Given the description of an element on the screen output the (x, y) to click on. 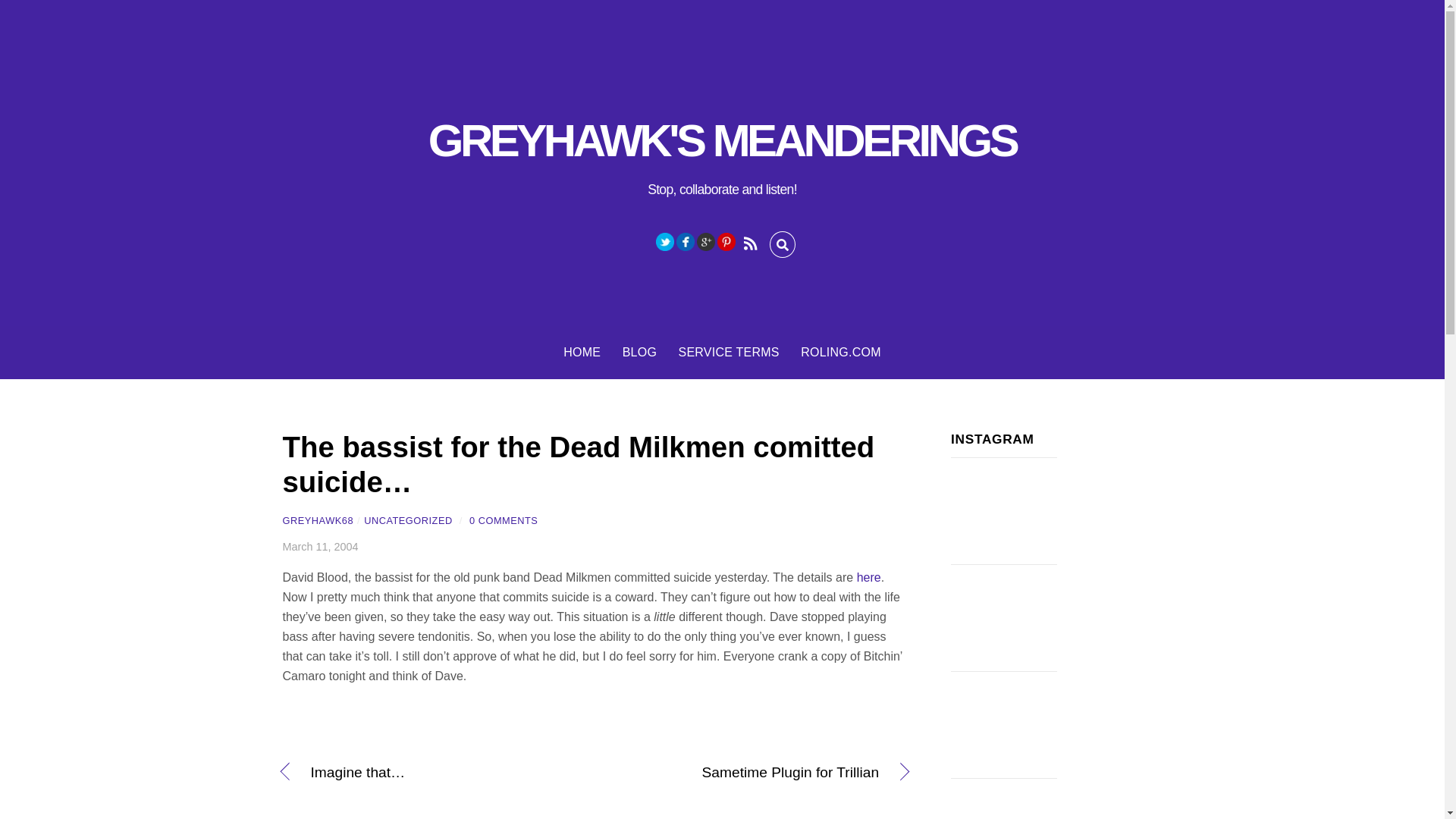
here (868, 576)
ROLING.COM (840, 352)
'Sup? (1003, 510)
Greyhawk's Meanderings (722, 140)
GREYHAWK68 (317, 520)
RSS (749, 241)
Hope you all have a cozy day (1003, 798)
Merry Christmas Fo Shizzle (1003, 724)
UNCATEGORIZED (408, 520)
GREYHAWK'S MEANDERINGS (722, 140)
